Given the description of an element on the screen output the (x, y) to click on. 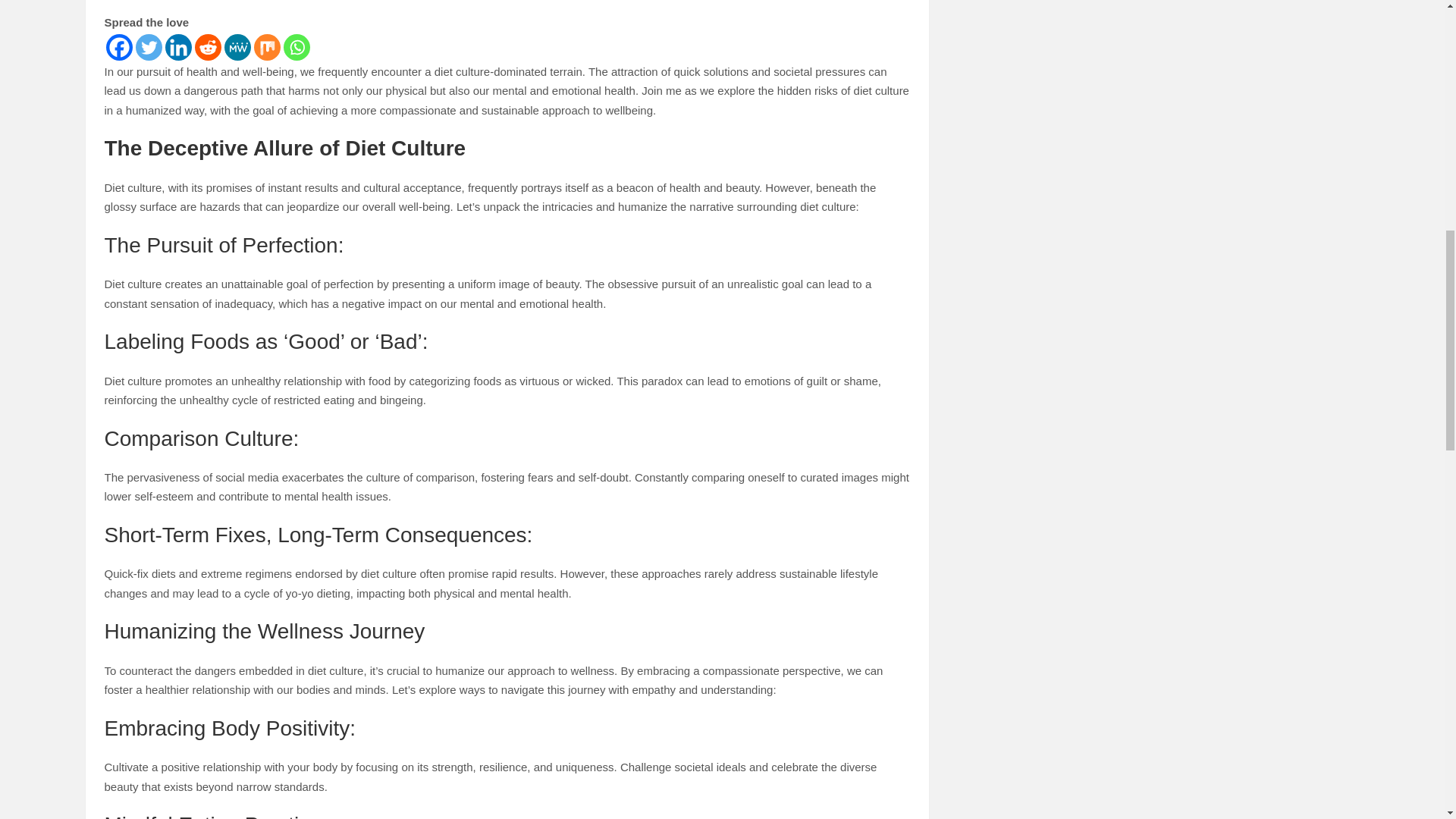
Whatsapp (296, 47)
Twitter (148, 47)
Facebook (119, 47)
Reddit (207, 47)
Linkedin (178, 47)
Mix (266, 47)
MeWe (237, 47)
